Given the description of an element on the screen output the (x, y) to click on. 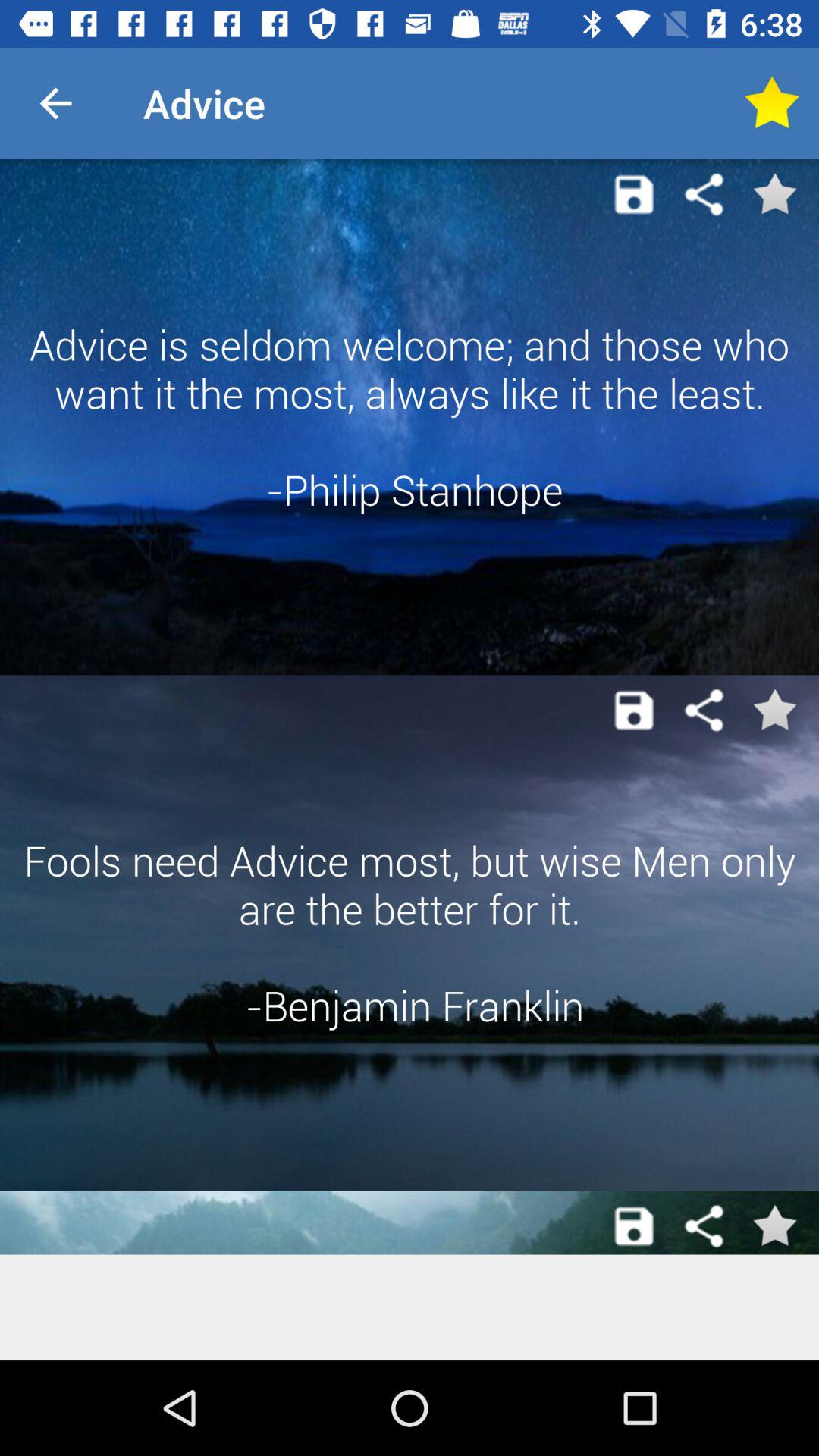
choose item to the right of advice (771, 103)
